Given the description of an element on the screen output the (x, y) to click on. 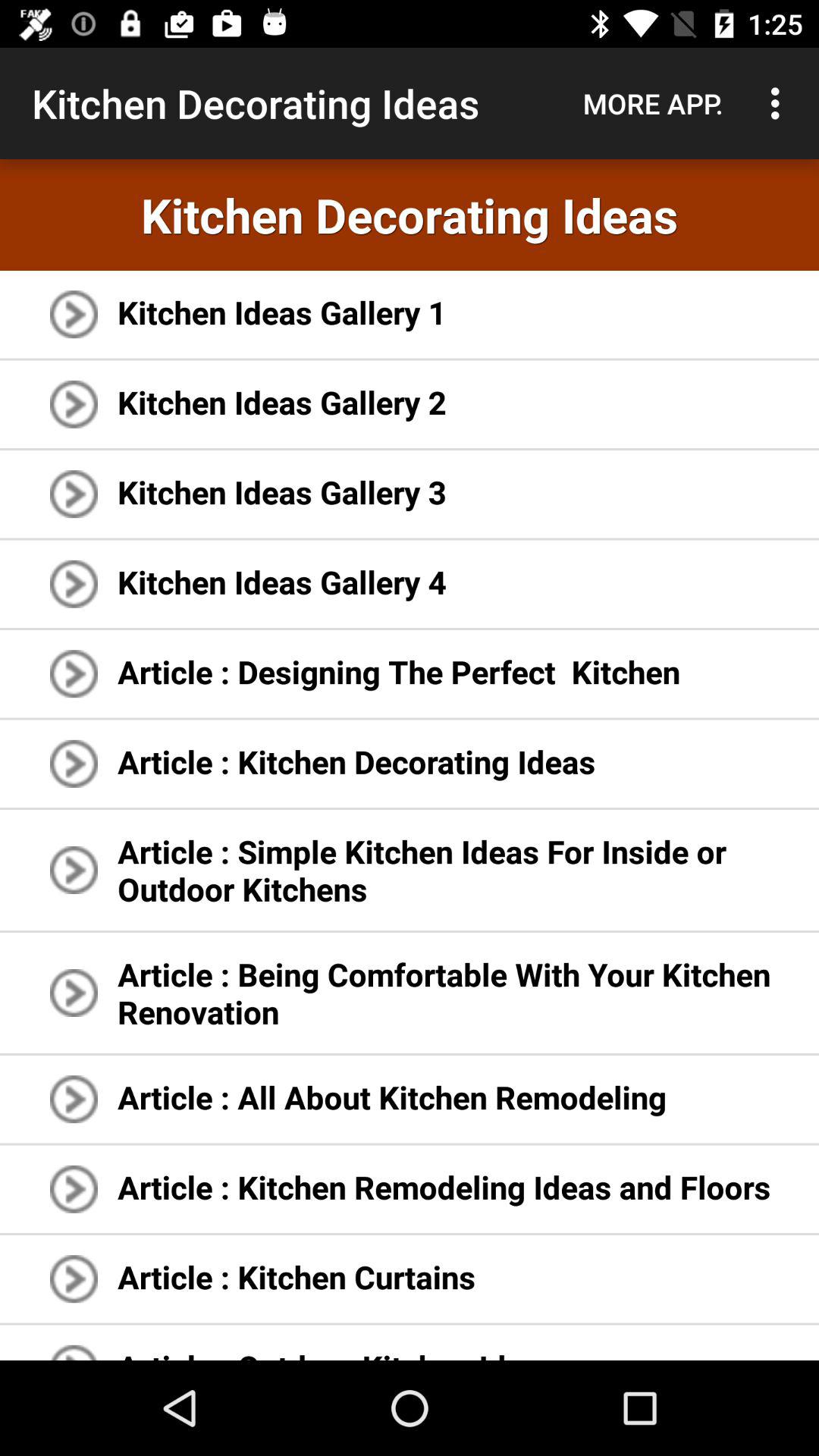
press app to the right of the kitchen decorating ideas item (653, 103)
